Given the description of an element on the screen output the (x, y) to click on. 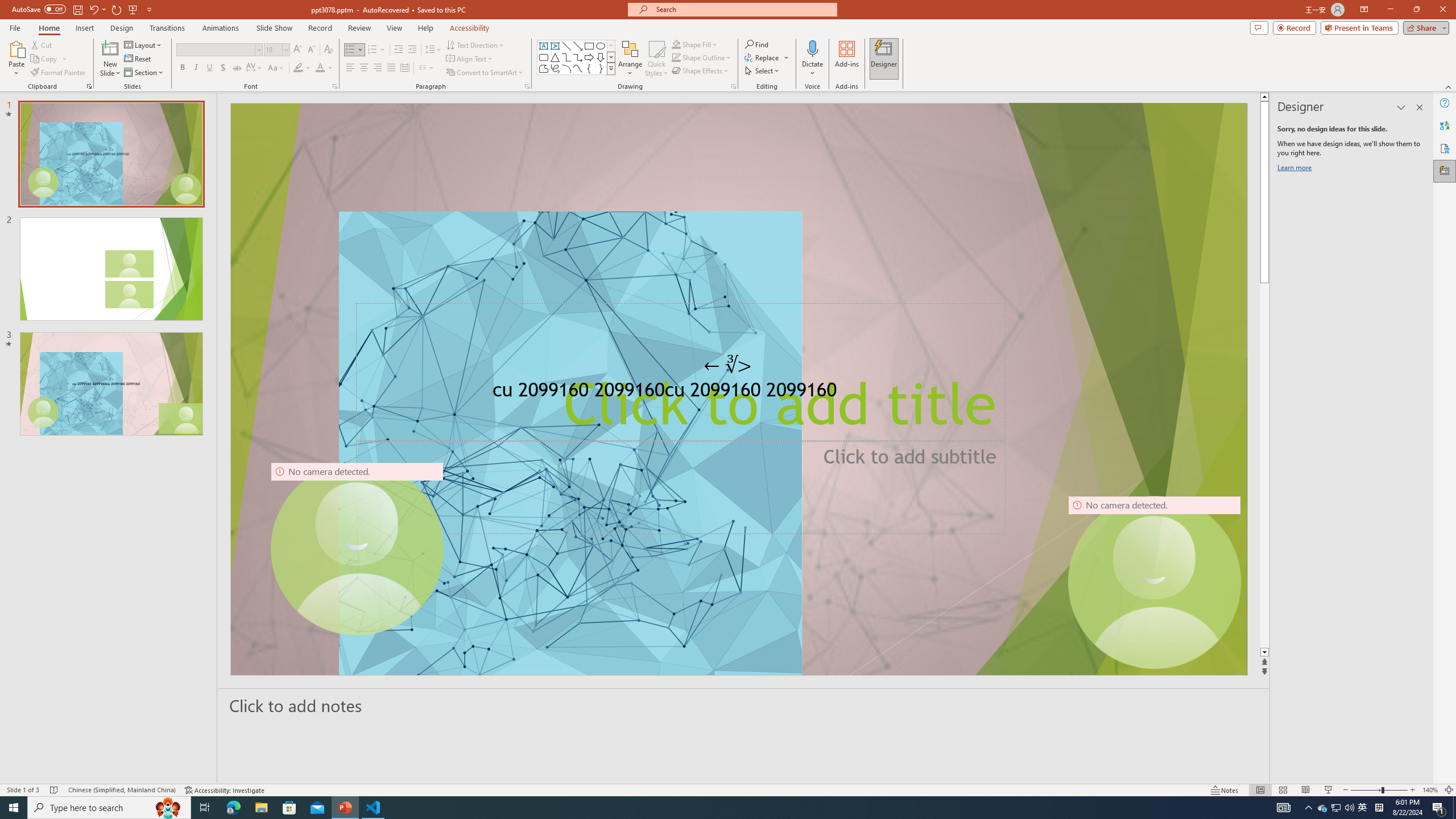
TextBox 61 (736, 391)
